Given the description of an element on the screen output the (x, y) to click on. 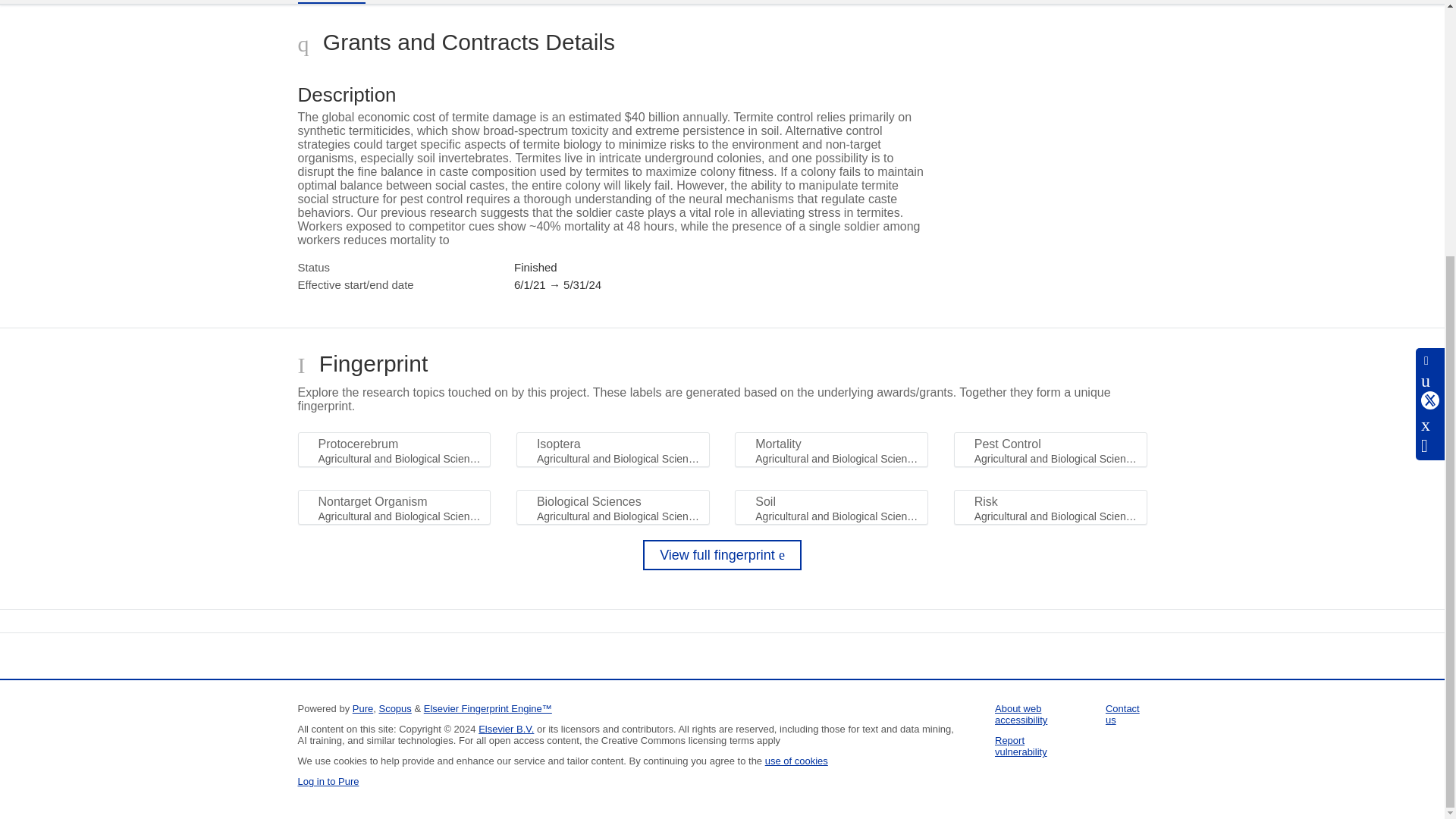
Elsevier B.V. (506, 728)
Fingerprint (419, 1)
About web accessibility (1020, 713)
Log in to Pure (327, 781)
View full fingerprint (722, 554)
Scopus (394, 708)
Overview (331, 2)
use of cookies (796, 760)
Pure (362, 708)
